Given the description of an element on the screen output the (x, y) to click on. 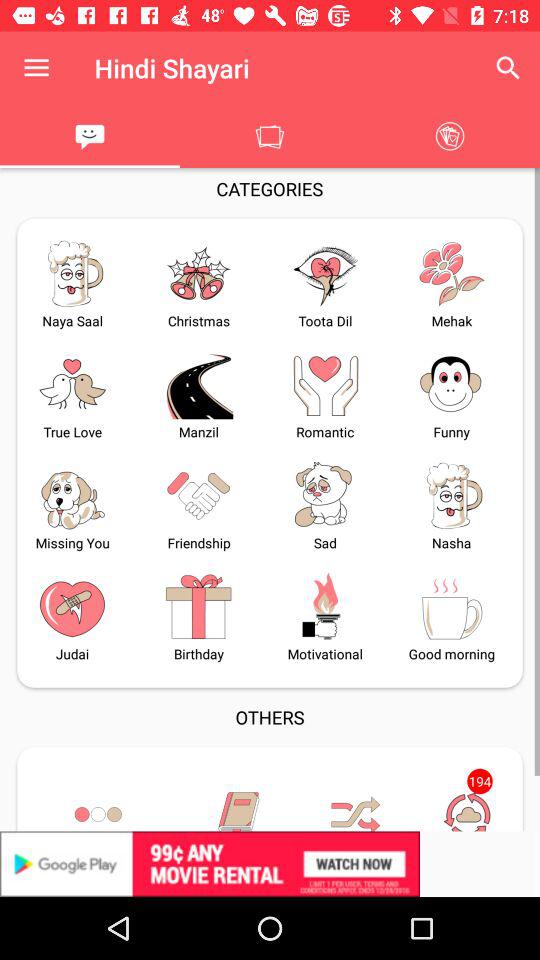
advertisement (270, 864)
